Given the description of an element on the screen output the (x, y) to click on. 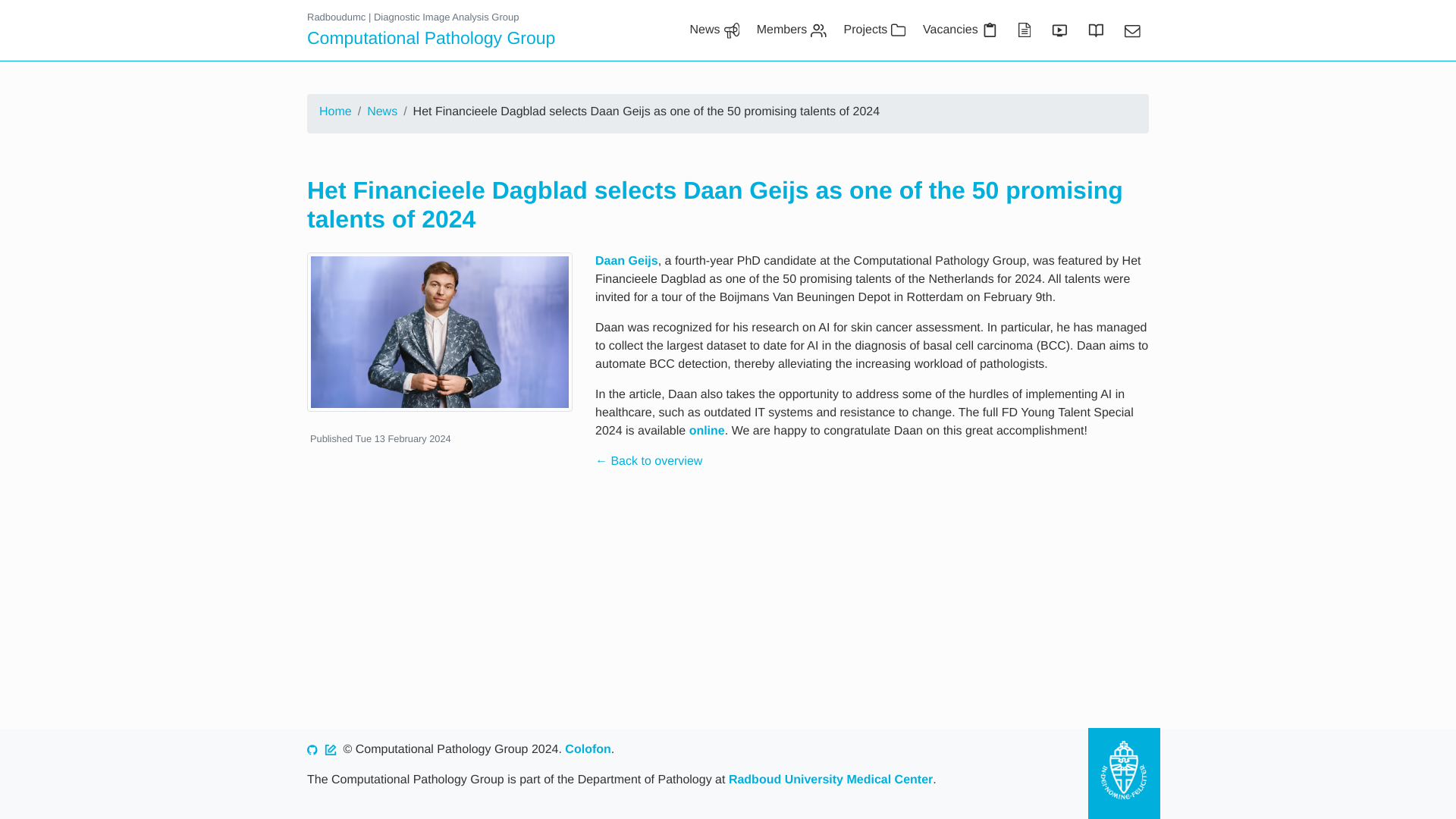
Projects (874, 30)
Daan Geijs (626, 260)
Radboud University Medical Center (831, 779)
Publications (1022, 30)
News (381, 112)
Members (791, 30)
Thesis Gallery (1093, 30)
Presentations (1057, 30)
Vacancies (960, 30)
Diagnostic Image Analysis Group (446, 16)
